Given the description of an element on the screen output the (x, y) to click on. 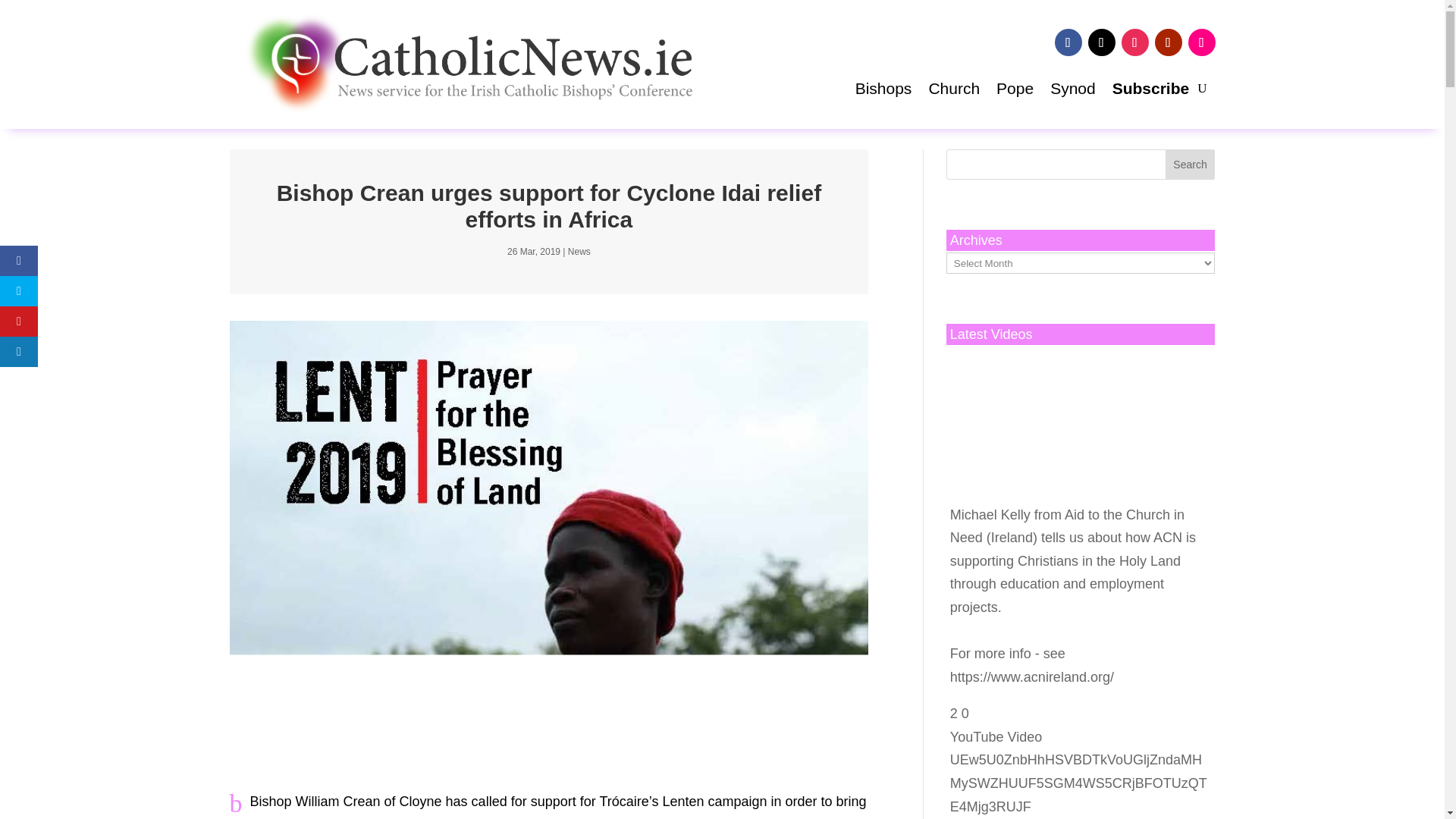
Subscribe (1150, 91)
Follow on X (1101, 42)
Follow on Facebook (1067, 42)
Pope (1014, 91)
Follow on Instagram (1134, 42)
Catholicnewslogo (460, 64)
Follow on Flickr (1201, 42)
Search (1190, 164)
Search (1190, 164)
News (579, 251)
